Given the description of an element on the screen output the (x, y) to click on. 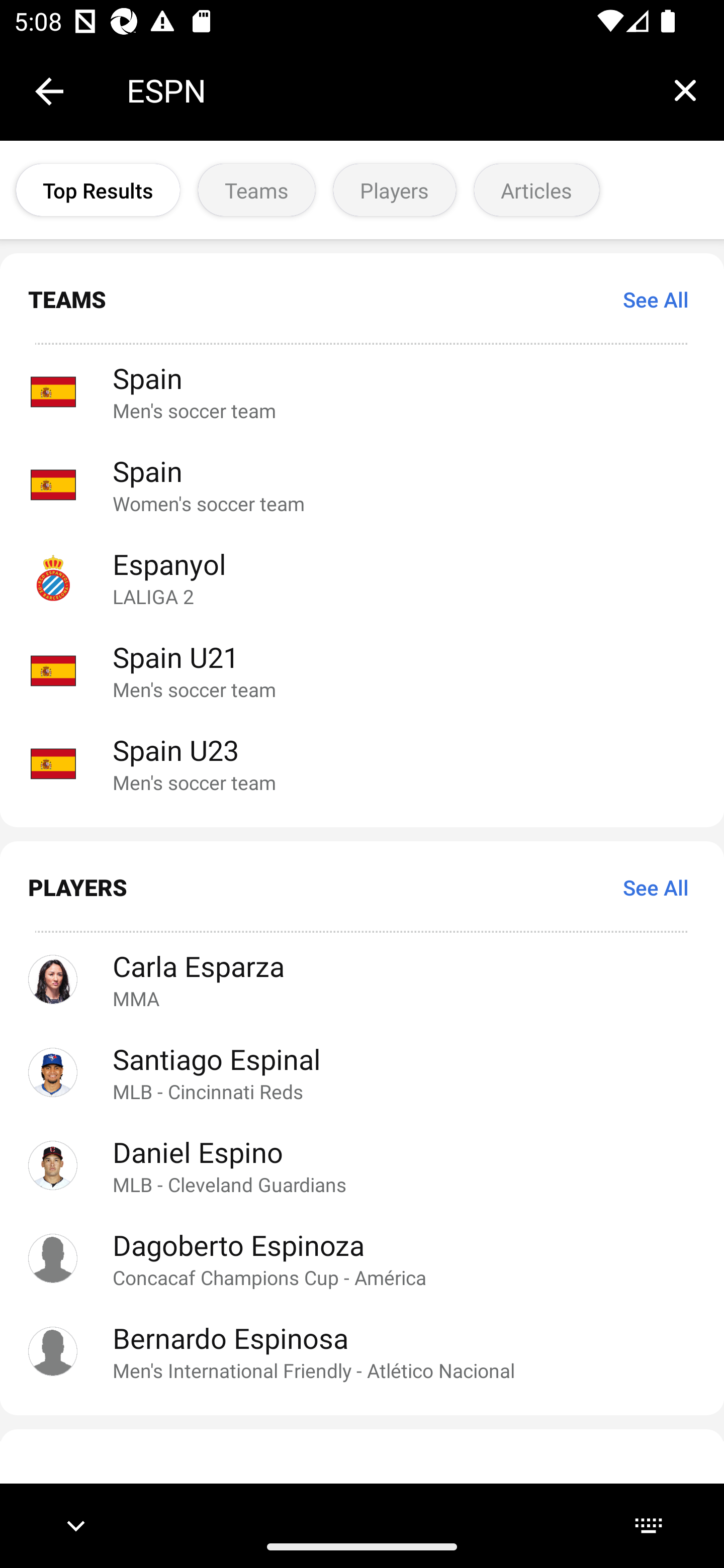
Collapse (49, 91)
Clear query (685, 89)
ESPN (386, 90)
Top Results (97, 190)
Teams (256, 190)
Players (394, 190)
Articles (536, 190)
See All (655, 298)
Spain : Men's soccer team Spain Men's soccer team (362, 390)
Espanyol : LALIGA 2 Espanyol LALIGA 2 (362, 576)
See All (655, 886)
Carla Esparza : MMA Carla Esparza MMA (362, 978)
